Given the description of an element on the screen output the (x, y) to click on. 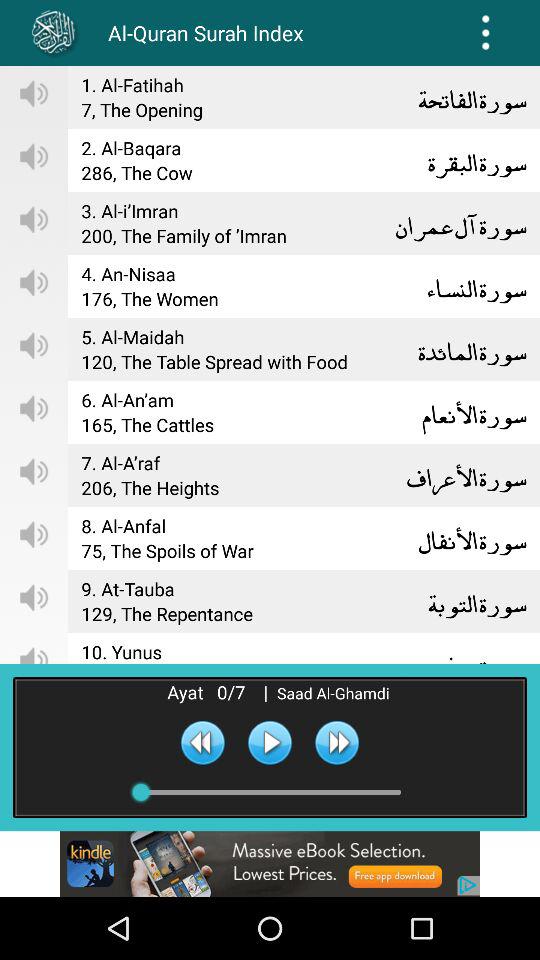
massive ebook selection lowest prices (270, 864)
